Given the description of an element on the screen output the (x, y) to click on. 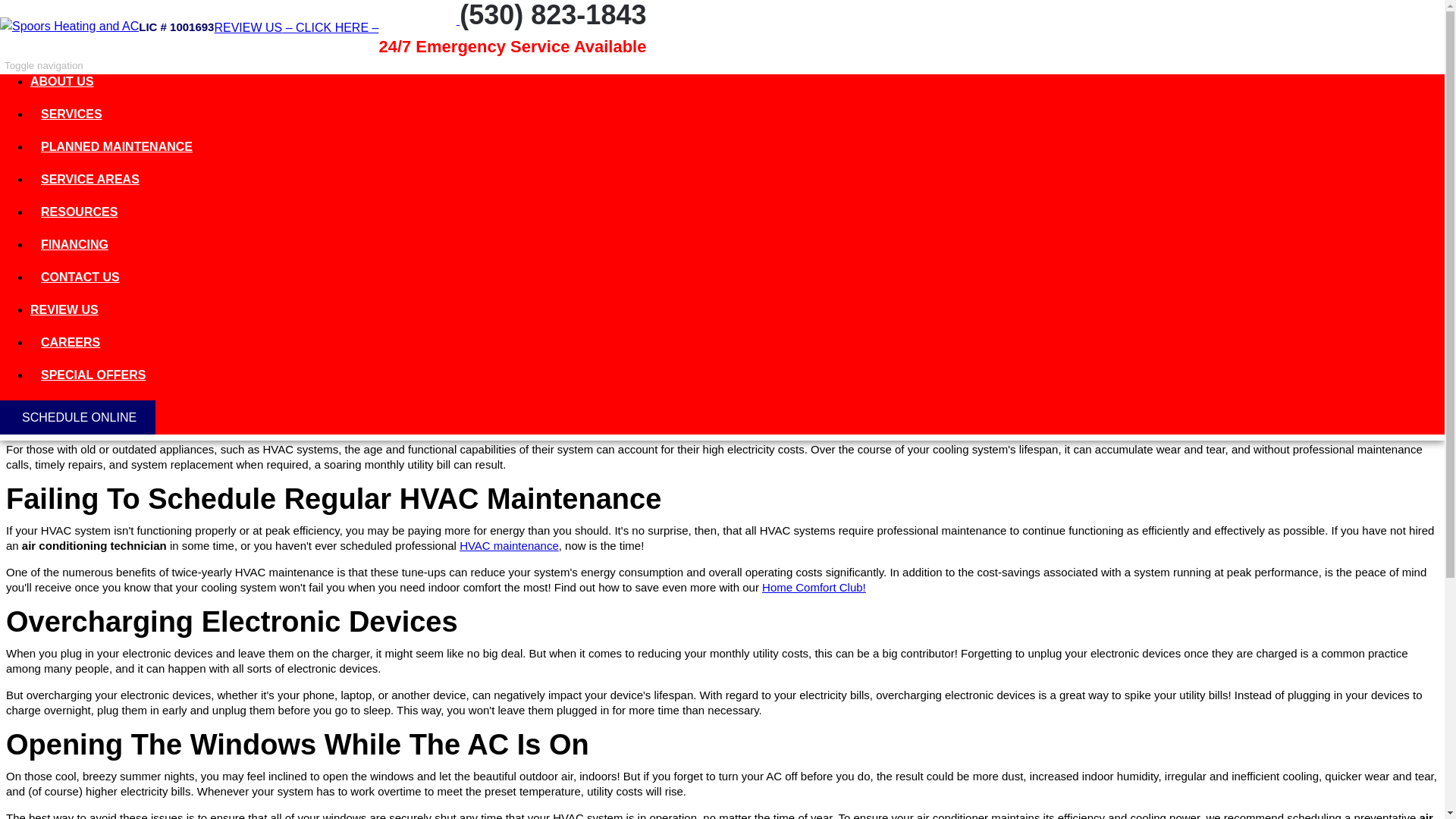
Click Here to Leave Us A Review (296, 27)
Toggle navigation (43, 65)
